Given the description of an element on the screen output the (x, y) to click on. 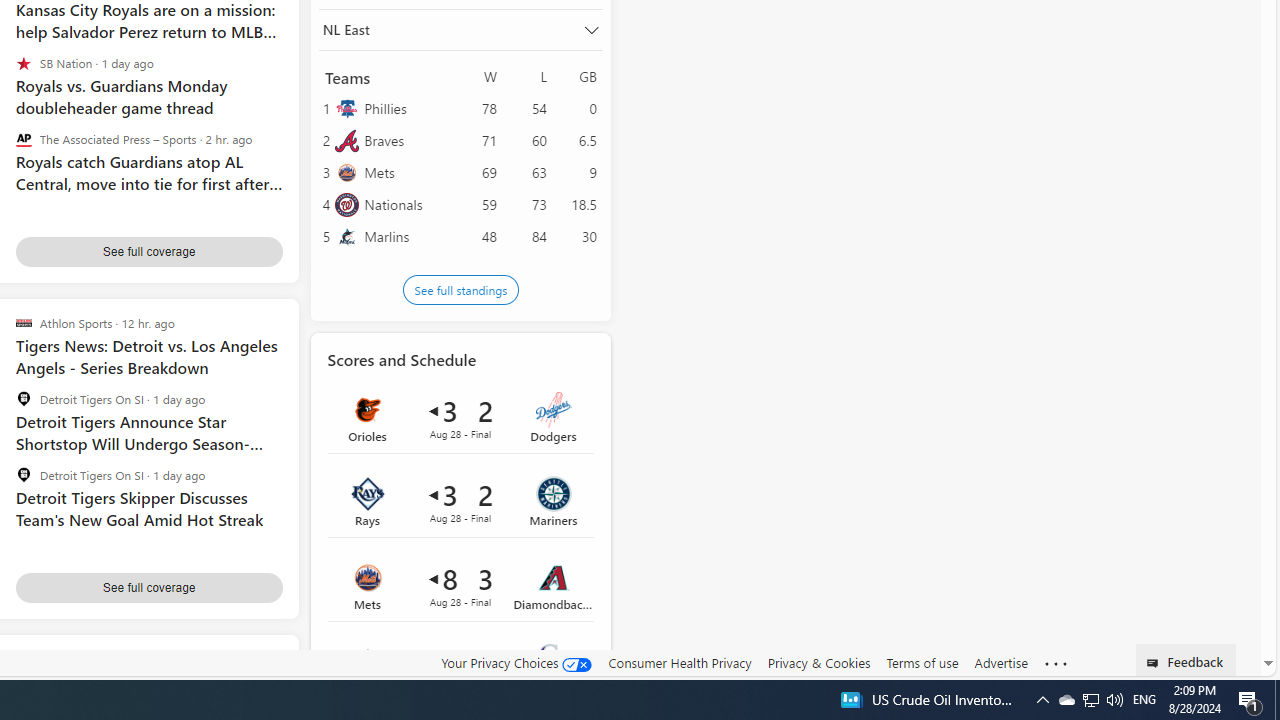
Nationals (406, 204)
Orioles 3 vs Dodgers 2Final Date Aug 28 (459, 417)
Braves (406, 140)
Royals vs. Guardians Monday doubleheader game thread (148, 86)
Terms of use (921, 663)
Mets (406, 172)
Class: oneFooter_seeMore-DS-EntryPoint1-1 (1055, 663)
Your Privacy Choices (516, 662)
Privacy & Cookies (818, 662)
Class: feedback_link_icon-DS-EntryPoint1-1 (1156, 663)
